Given the description of an element on the screen output the (x, y) to click on. 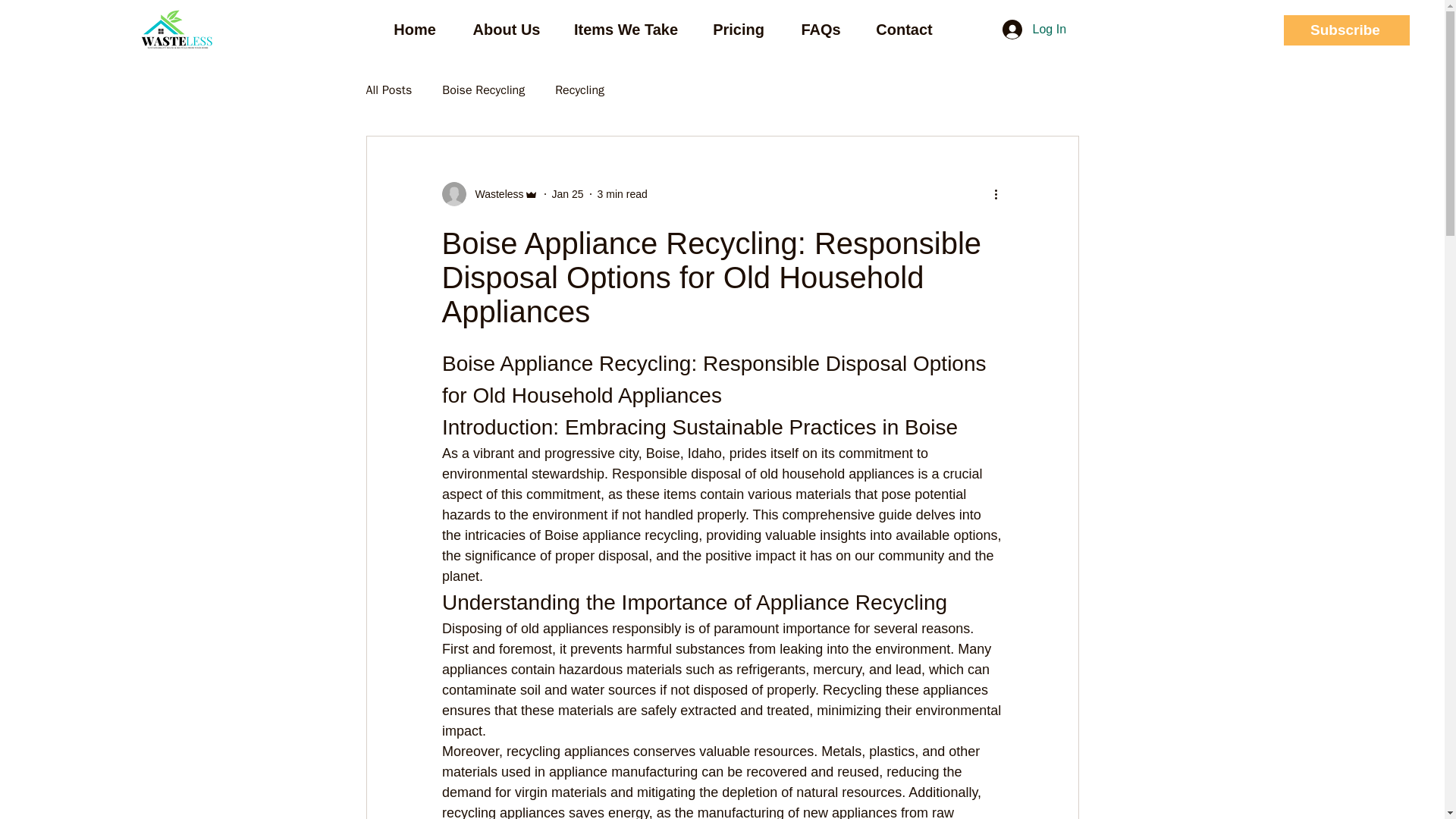
FAQs (821, 29)
Wasteless (489, 193)
All Posts (388, 89)
About Us (506, 29)
WasteLess Logo Updated.png (176, 29)
Pricing (738, 29)
Subscribe (1346, 30)
Recycling (579, 89)
Home (414, 29)
Jan 25 (567, 193)
